Given the description of an element on the screen output the (x, y) to click on. 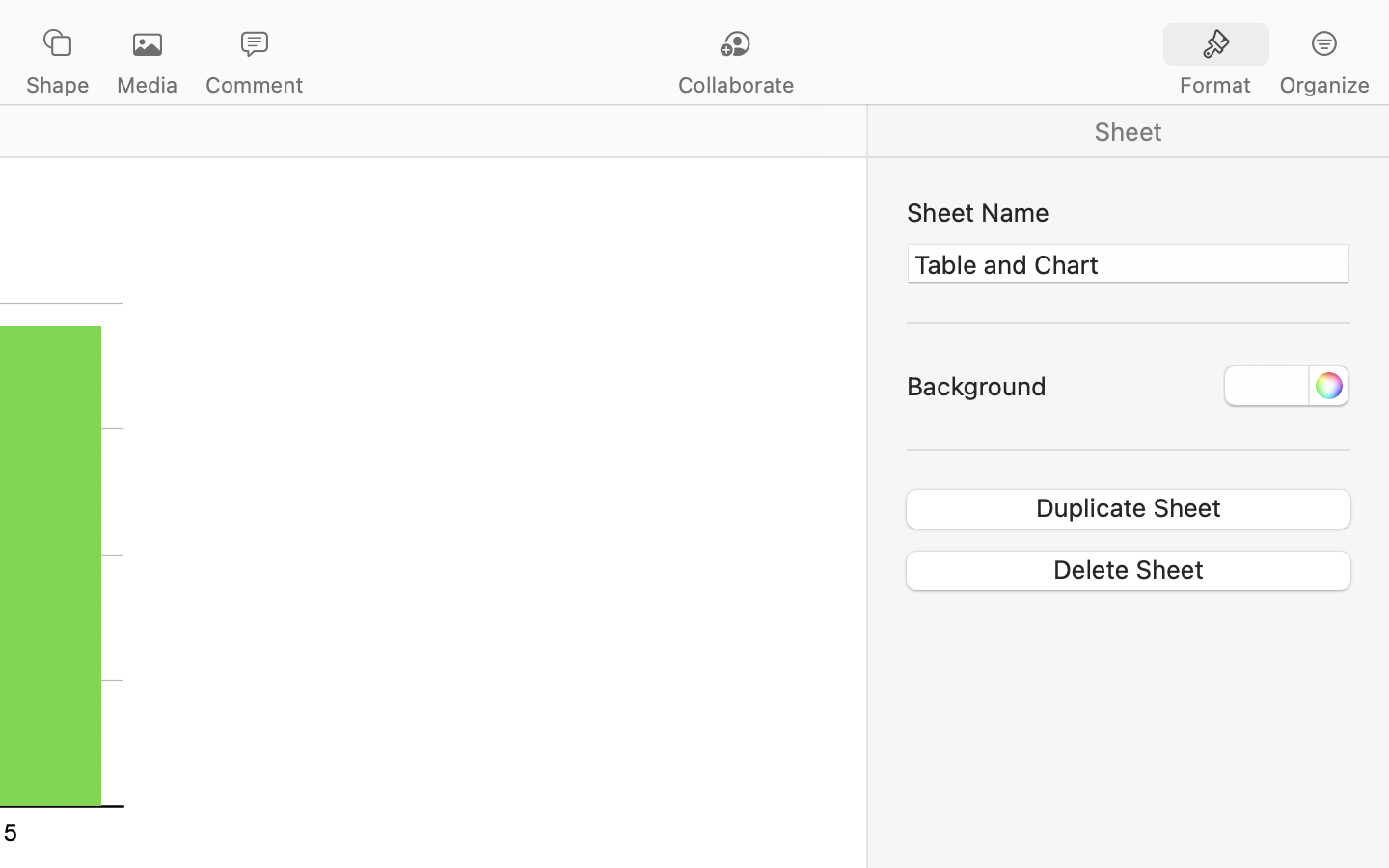
Media Element type: AXStaticText (146, 84)
<AXUIElement 0x1706ce830> {pid=1420} Element type: AXGroup (1270, 45)
Organize Element type: AXStaticText (1323, 84)
Sheet Name Element type: AXStaticText (1128, 211)
<AXUIElement 0x12503ee70> {pid=1420} Element type: AXRadioGroup (1128, 131)
